Given the description of an element on the screen output the (x, y) to click on. 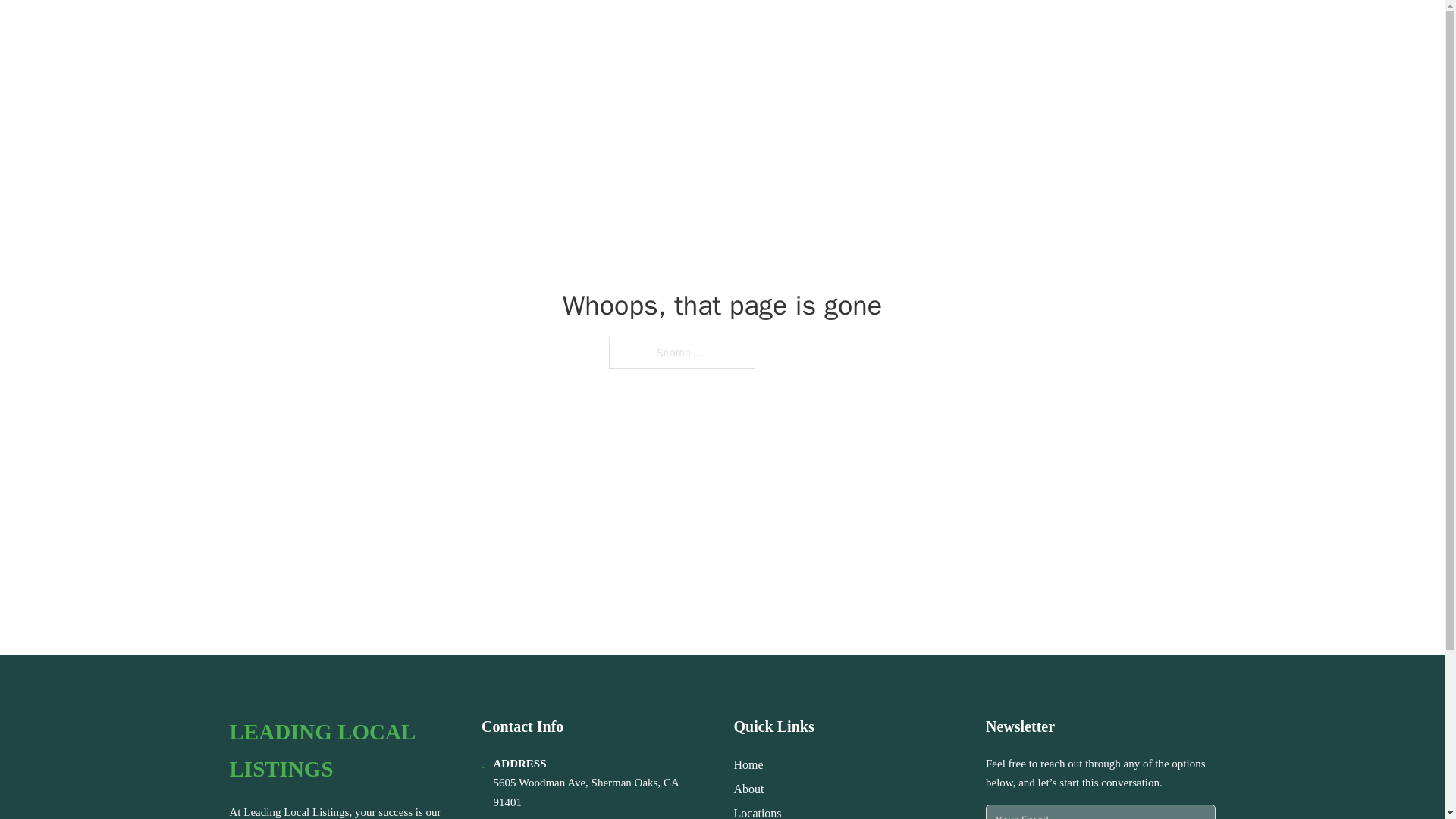
LEADING LOCAL LISTINGS (343, 750)
Locations (757, 811)
Home (747, 764)
HOME (1025, 31)
About (748, 788)
LEADING LOCAL LISTINGS (391, 31)
LOCATIONS (1098, 31)
